Given the description of an element on the screen output the (x, y) to click on. 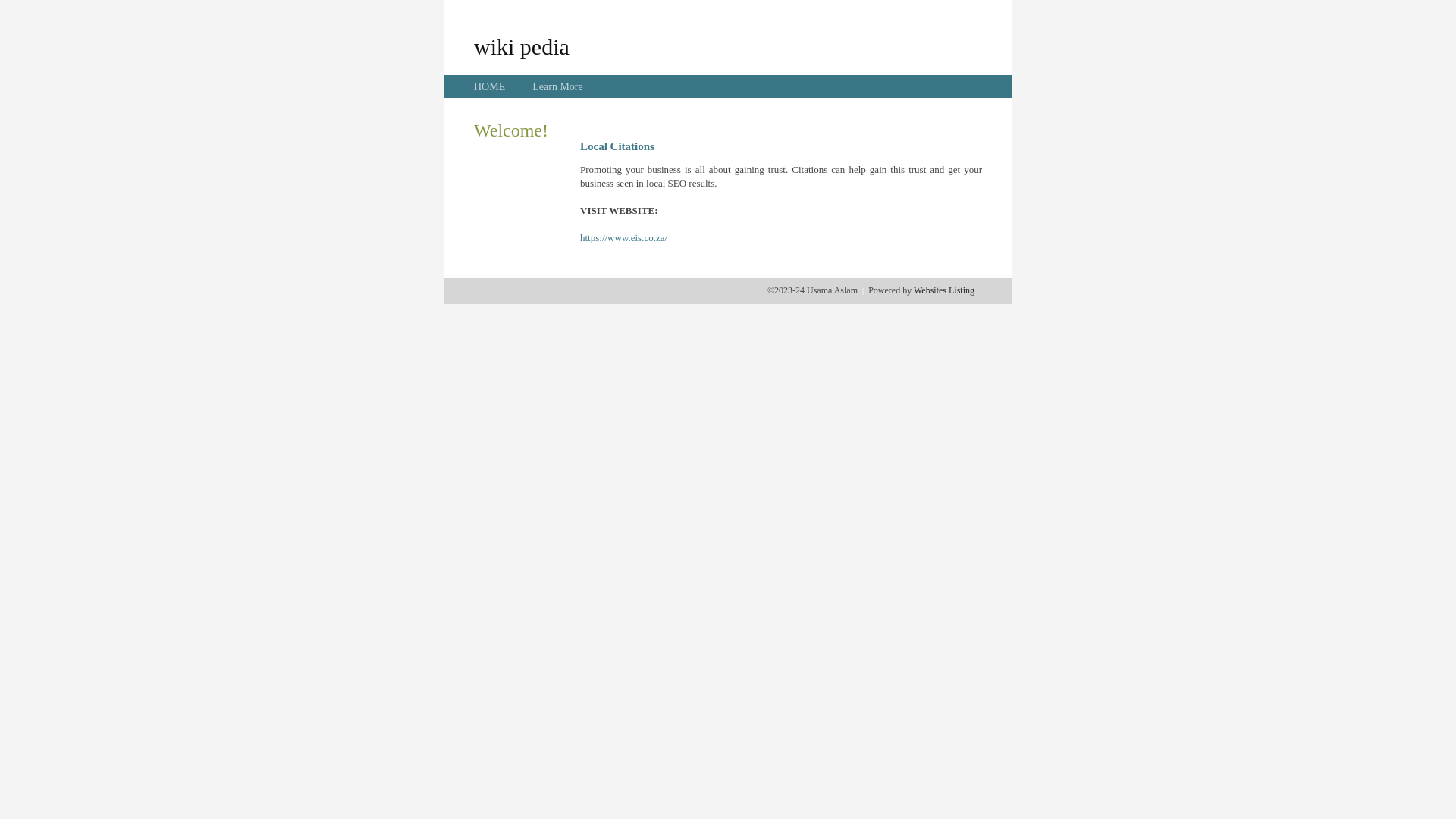
Websites Listing Element type: text (943, 290)
https://www.eis.co.za/ Element type: text (623, 237)
HOME Element type: text (489, 86)
Learn More Element type: text (557, 86)
wiki pedia Element type: text (521, 46)
